Given the description of an element on the screen output the (x, y) to click on. 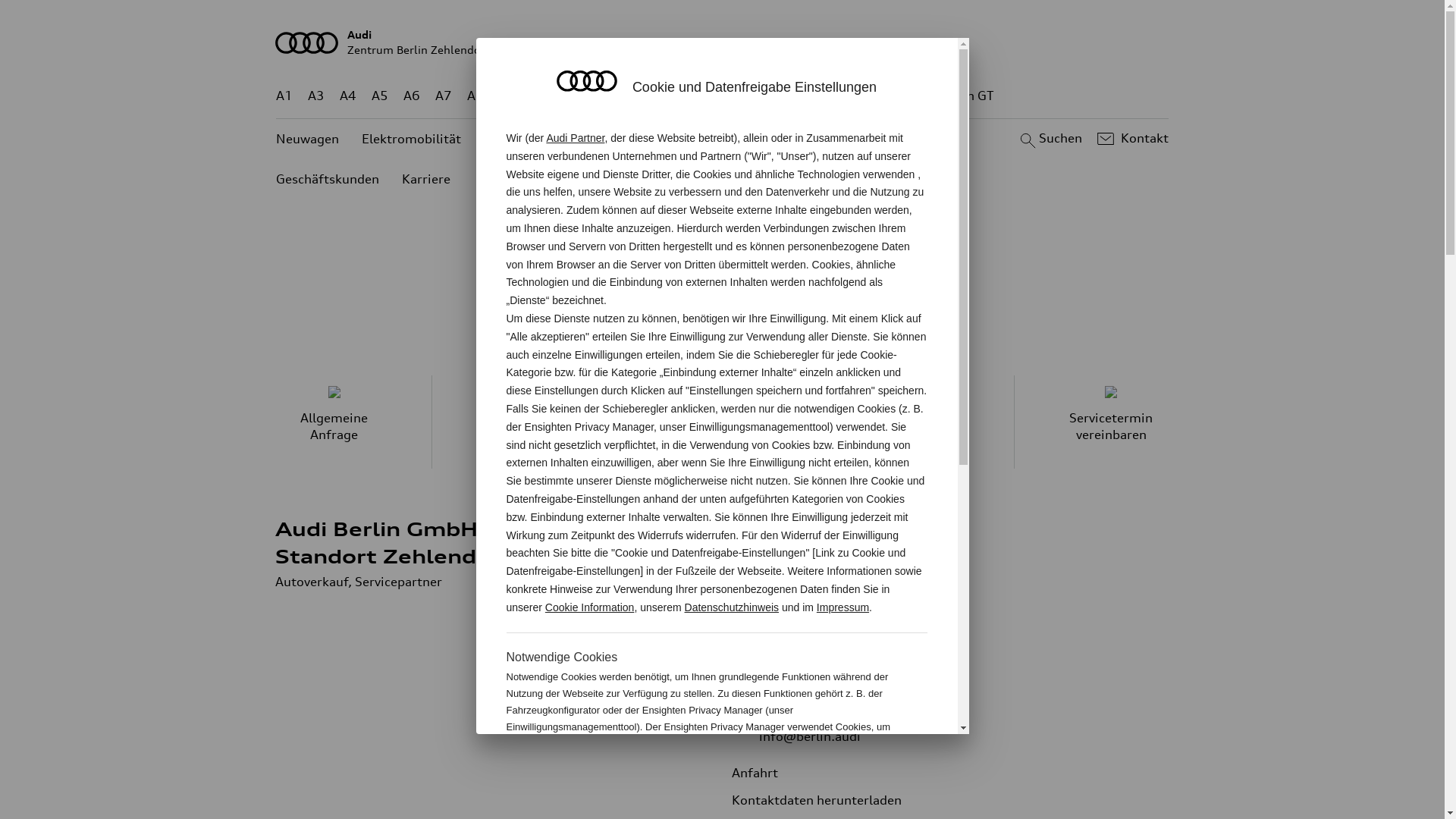
A3 Element type: text (315, 95)
A4 Element type: text (347, 95)
Cookie Information Element type: text (589, 607)
Servicetermin
vereinbaren Element type: text (1111, 421)
Kundenservice Element type: text (727, 139)
Serviceberater
kontaktieren Element type: text (917, 421)
+49 30 666077600 Element type: text (848, 681)
Q8 Element type: text (710, 95)
Cookie Information Element type: text (847, 776)
Q3 Element type: text (540, 95)
Kontaktdaten herunterladen Element type: text (827, 799)
Allgemeine
Anfrage Element type: text (333, 421)
info@berlin.audi Element type: text (808, 736)
Q5 Element type: text (645, 95)
Q2 Element type: text (507, 95)
Q7 Element type: text (678, 95)
Q4 e-tron Element type: text (592, 95)
g-tron Element type: text (903, 95)
e-tron GT Element type: text (965, 95)
Beeskowdamm 2
14167 Berlin Element type: text (809, 636)
Anfahrt Element type: text (765, 772)
Impressum Element type: text (842, 607)
Audi on demand Element type: text (612, 139)
A8 Element type: text (475, 95)
Probefahrt
vereinbaren Element type: text (528, 421)
Audi
Zentrum Berlin Zehlendorf Element type: text (722, 42)
Karriere Element type: text (425, 179)
Verkaufsberater
kontaktieren Element type: text (722, 421)
A6 Element type: text (411, 95)
Angebote Element type: text (512, 139)
Q8 e-tron Element type: text (763, 95)
A7 Element type: text (443, 95)
A5 Element type: text (379, 95)
Datenschutzhinweis Element type: text (731, 607)
A1 Element type: text (284, 95)
RS Element type: text (861, 95)
TT Element type: text (814, 95)
Neuwagen Element type: text (307, 139)
Suchen Element type: text (1049, 138)
Kontakt Element type: text (1130, 138)
Audi Partner Element type: text (575, 137)
